Given the description of an element on the screen output the (x, y) to click on. 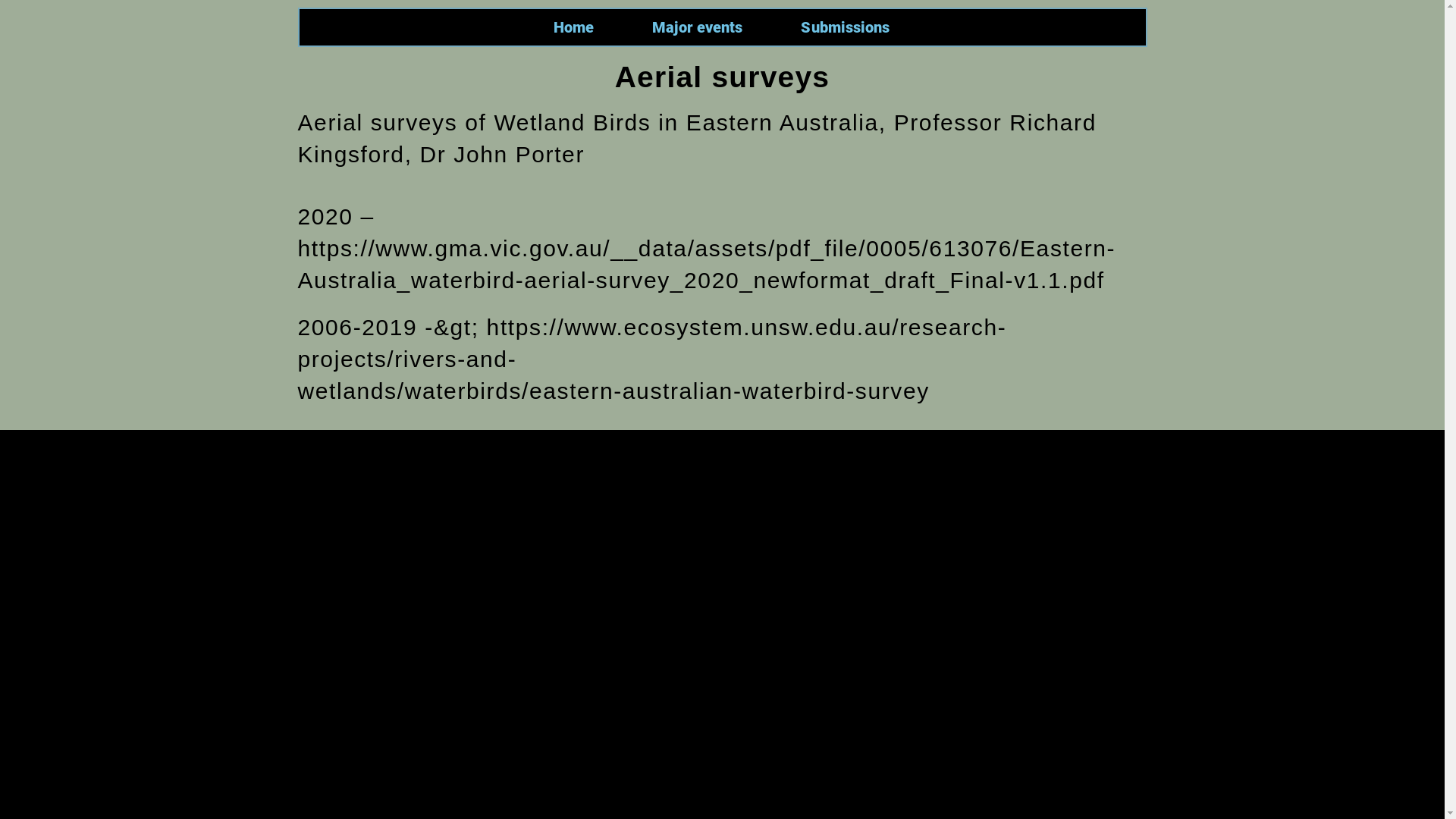
Submissions Element type: text (844, 27)
Major events Element type: text (696, 27)
Home Element type: text (573, 27)
